Given the description of an element on the screen output the (x, y) to click on. 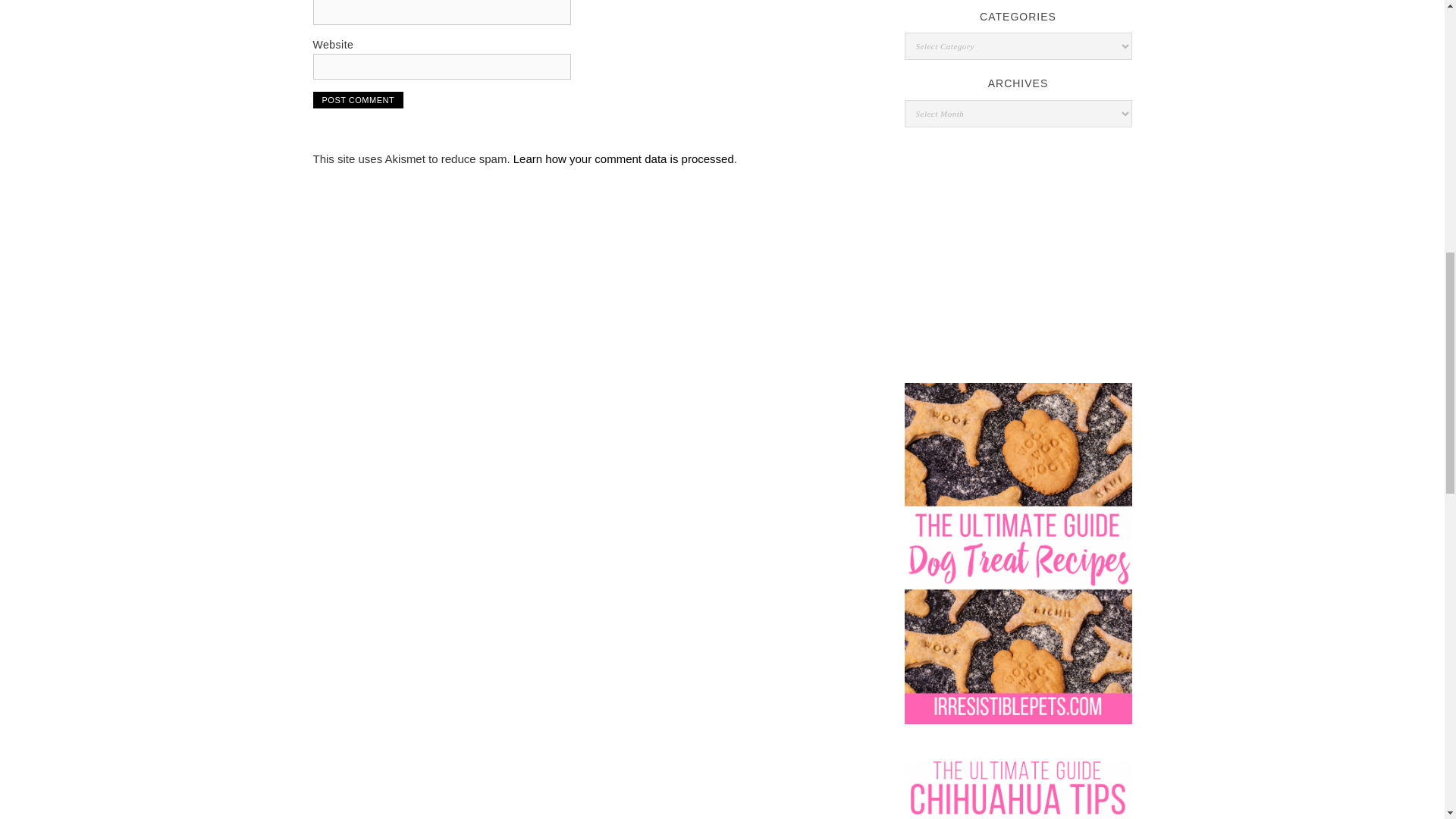
Post Comment (358, 99)
Post Comment (358, 99)
Learn how your comment data is processed (623, 158)
